Given the description of an element on the screen output the (x, y) to click on. 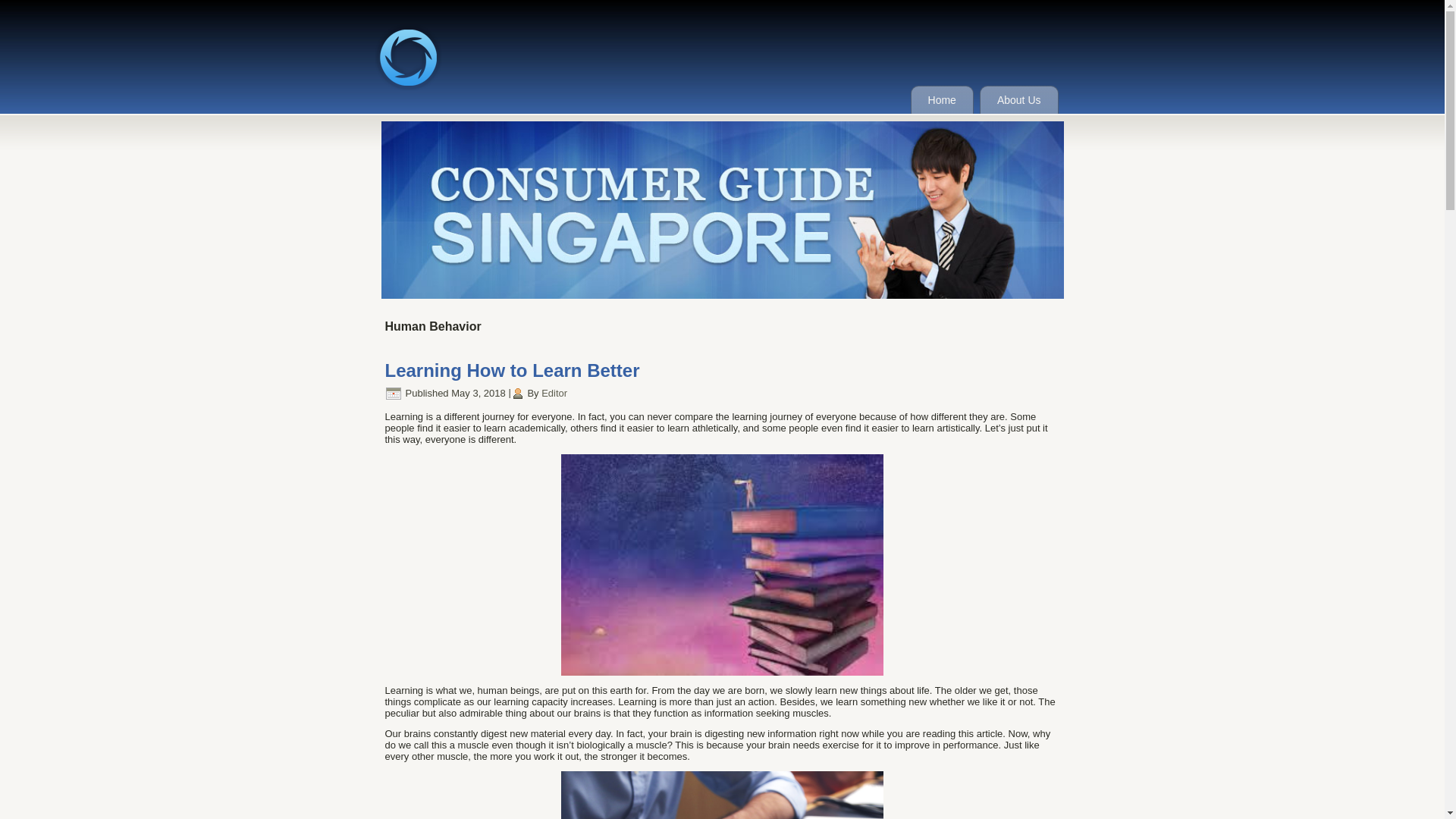
Home (942, 99)
Editor (554, 392)
Home (942, 99)
Learning How to Learn Better (512, 370)
About Us (1018, 99)
View all posts by Editor (554, 392)
Learning How to Learn Better (512, 370)
About Us (1018, 99)
6:13 am (478, 392)
